Given the description of an element on the screen output the (x, y) to click on. 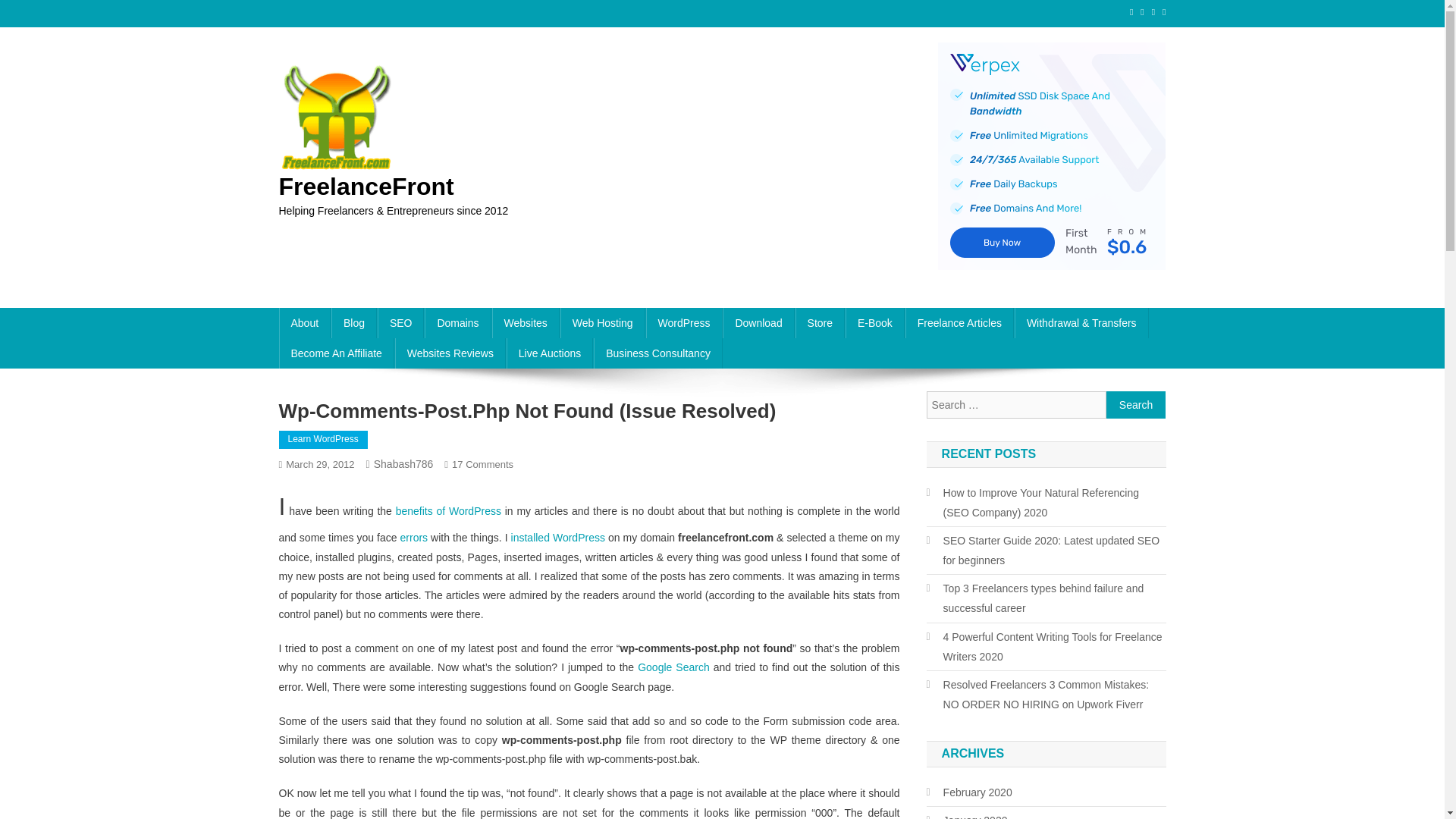
Blog (354, 322)
Websites Reviews (449, 353)
FreelanceFront (366, 185)
Web Hosting (602, 322)
March 29, 2012 (319, 464)
WordPress (684, 322)
errors (414, 537)
benefits of WordPress (448, 510)
Domains (457, 322)
Shabash786 (403, 463)
SEO (401, 322)
Skip to content (34, 9)
Download (757, 322)
Search (1136, 404)
Google Search (673, 666)
